Given the description of an element on the screen output the (x, y) to click on. 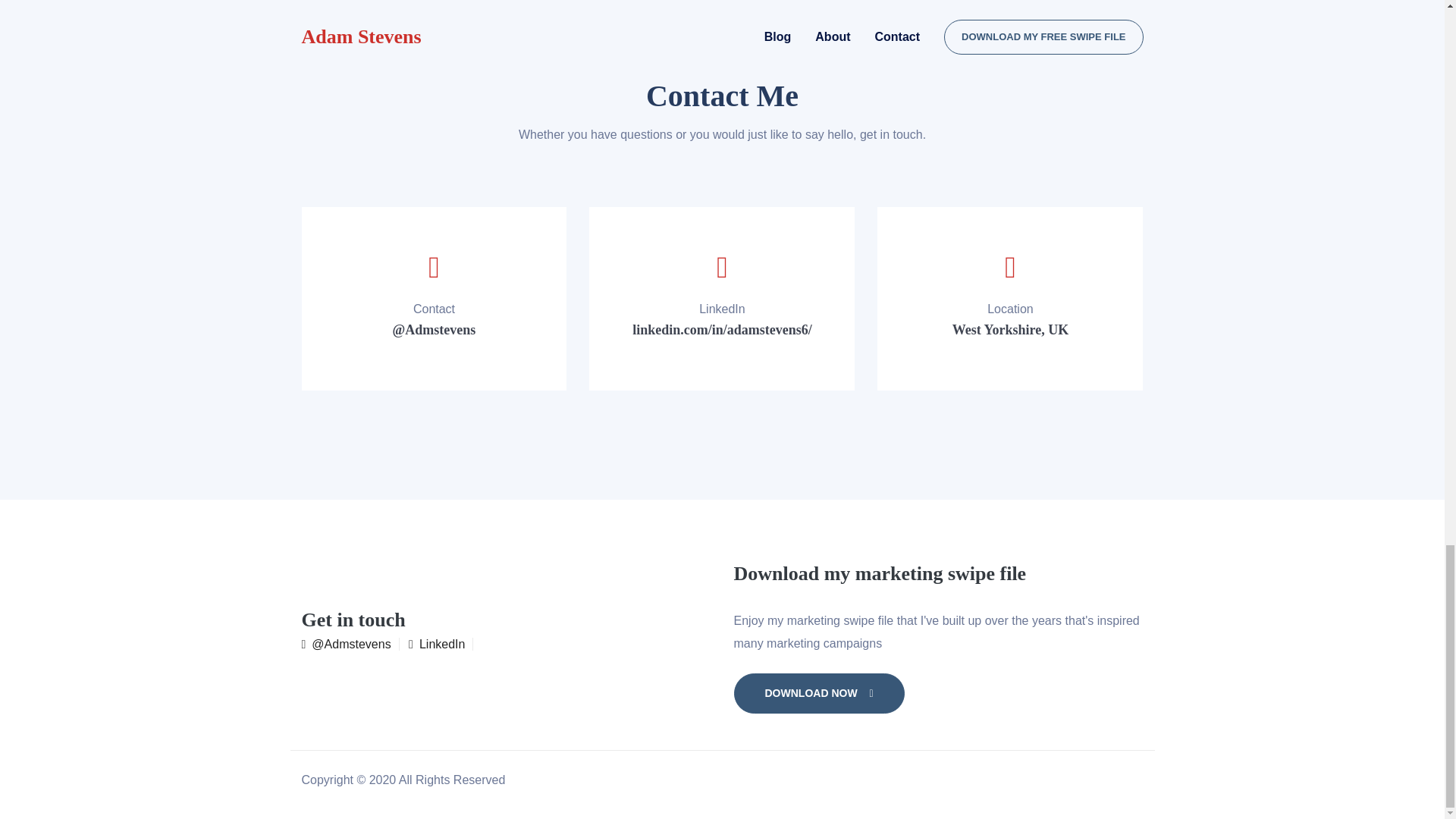
DOWNLOAD NOW (818, 693)
LinkedIn (441, 644)
